Given the description of an element on the screen output the (x, y) to click on. 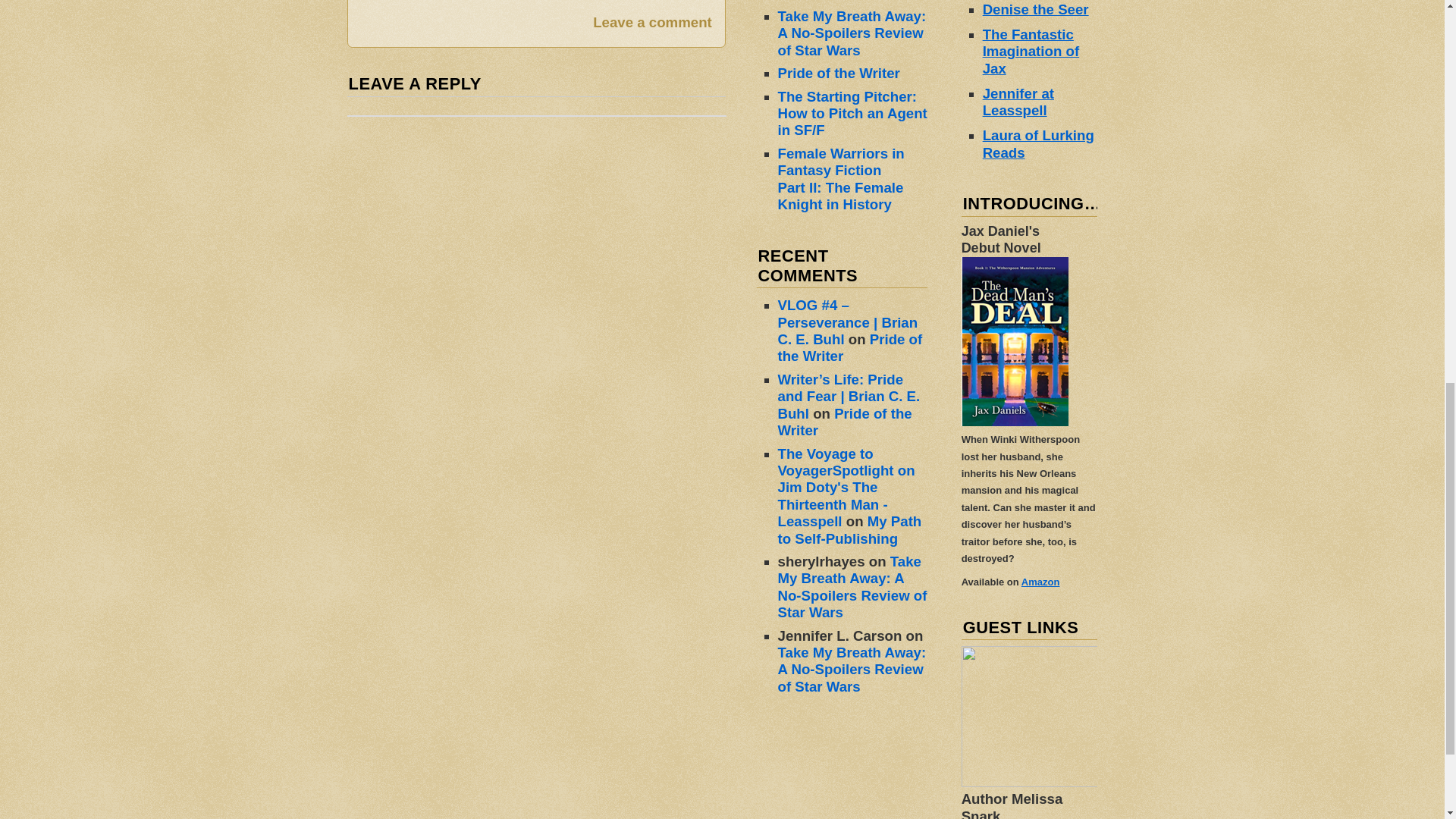
Take My Breath Away: A No-Spoilers Review of Star Wars (851, 33)
Amazon (1040, 582)
My Path to Self-Publishing (849, 529)
Take My Breath Away: A No-Spoilers Review of Star Wars (851, 669)
Jennifer at Leasspell (1018, 101)
The Fantastic Imagination of Jax (1030, 51)
Take My Breath Away: A No-Spoilers Review of Star Wars (852, 586)
Pride of the Writer (844, 421)
Pride of the Writer (838, 73)
Laura of Lurking Reads (1038, 143)
Leave a comment (652, 22)
Denise the Seer (1035, 9)
